Given the description of an element on the screen output the (x, y) to click on. 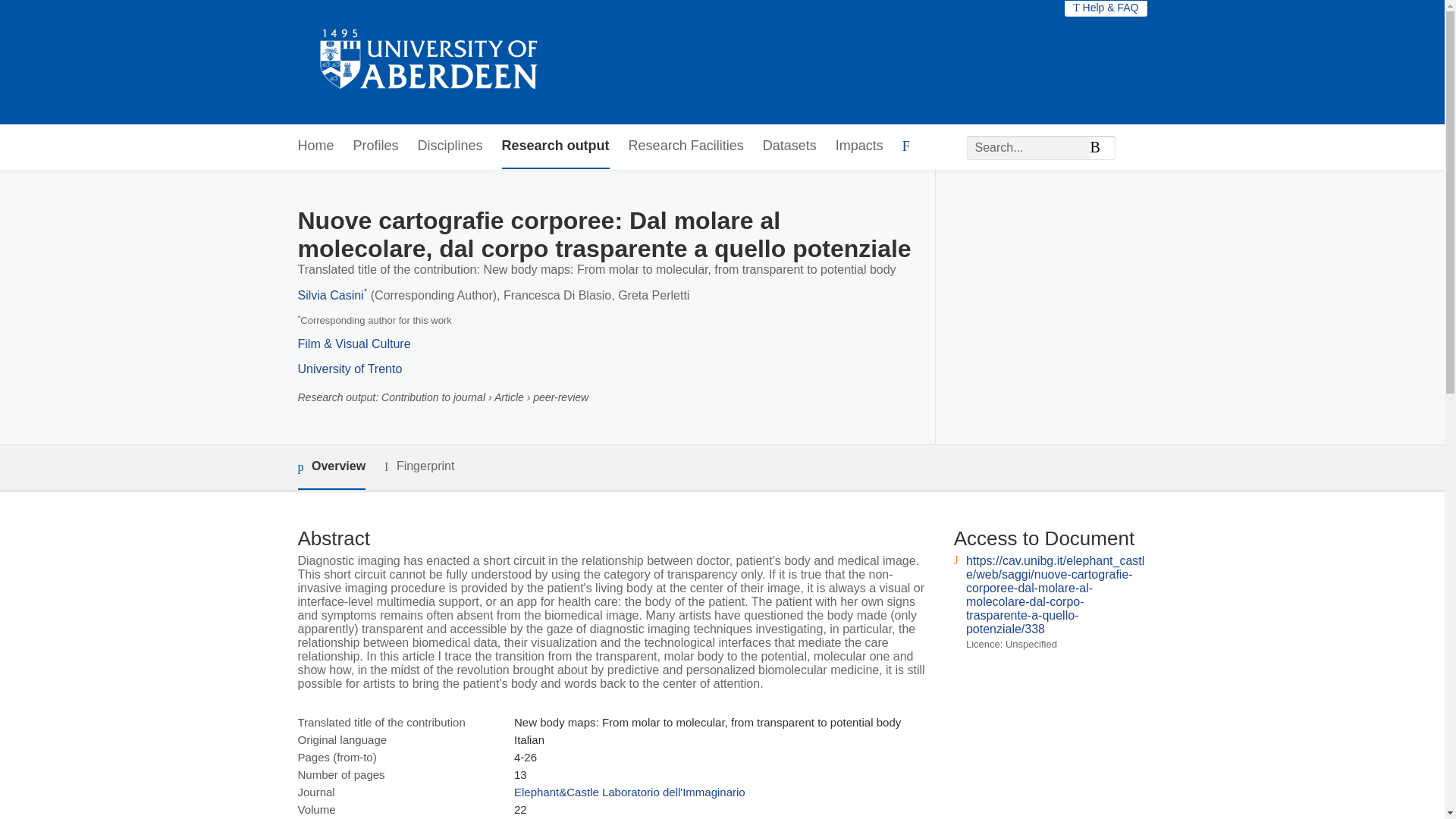
Overview (331, 467)
The University of Aberdeen Research Portal Home (429, 61)
Profiles (375, 146)
Fingerprint (419, 466)
University of Trento (349, 368)
Disciplines (450, 146)
Research Facilities (686, 146)
Impacts (859, 146)
Datasets (789, 146)
